Given the description of an element on the screen output the (x, y) to click on. 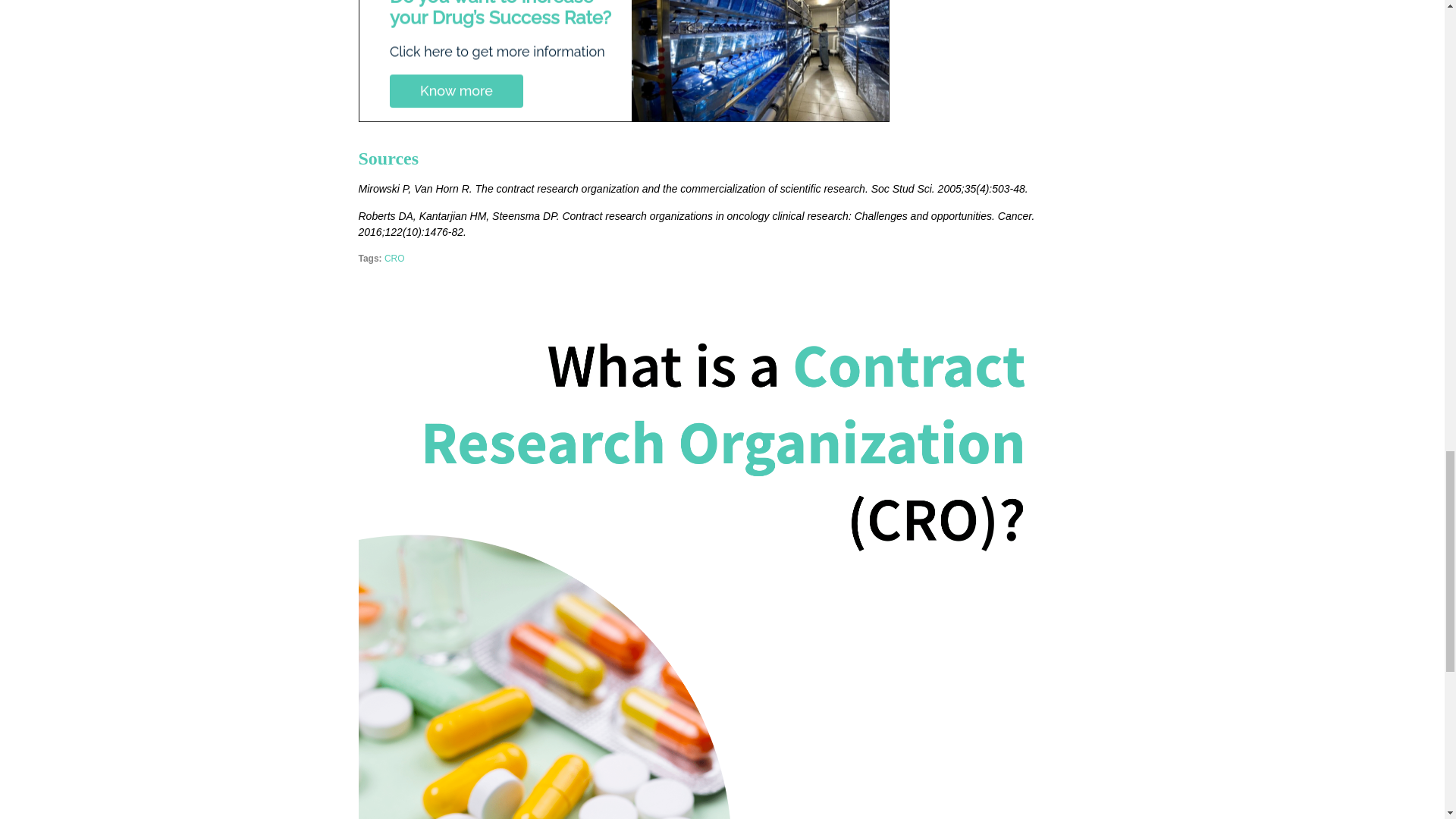
CRO (394, 258)
